Given the description of an element on the screen output the (x, y) to click on. 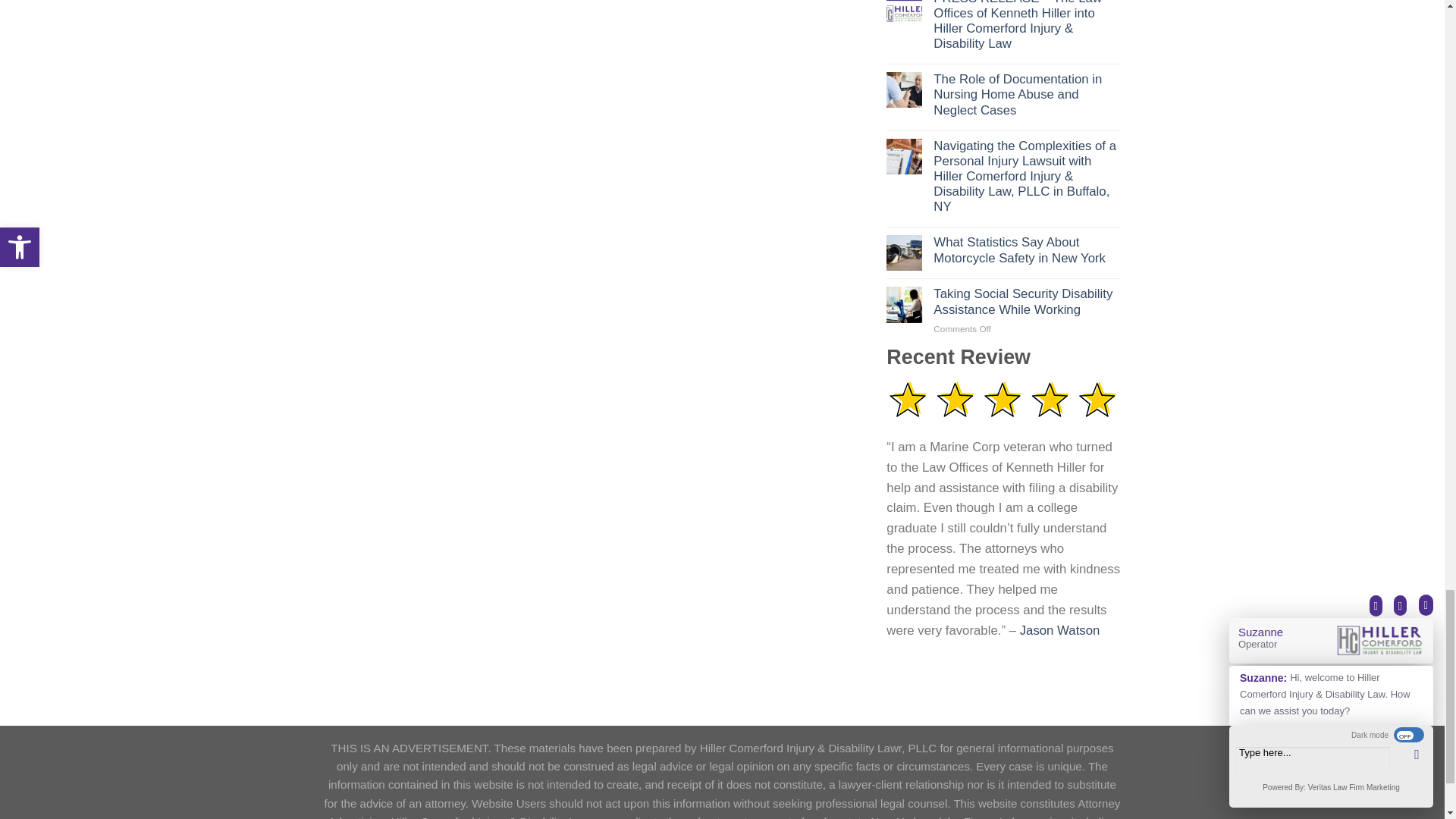
What Statistics Say About Motorcycle Safety in New York (1026, 250)
Taking Social Security Disability Assistance While Working (1026, 301)
